Given the description of an element on the screen output the (x, y) to click on. 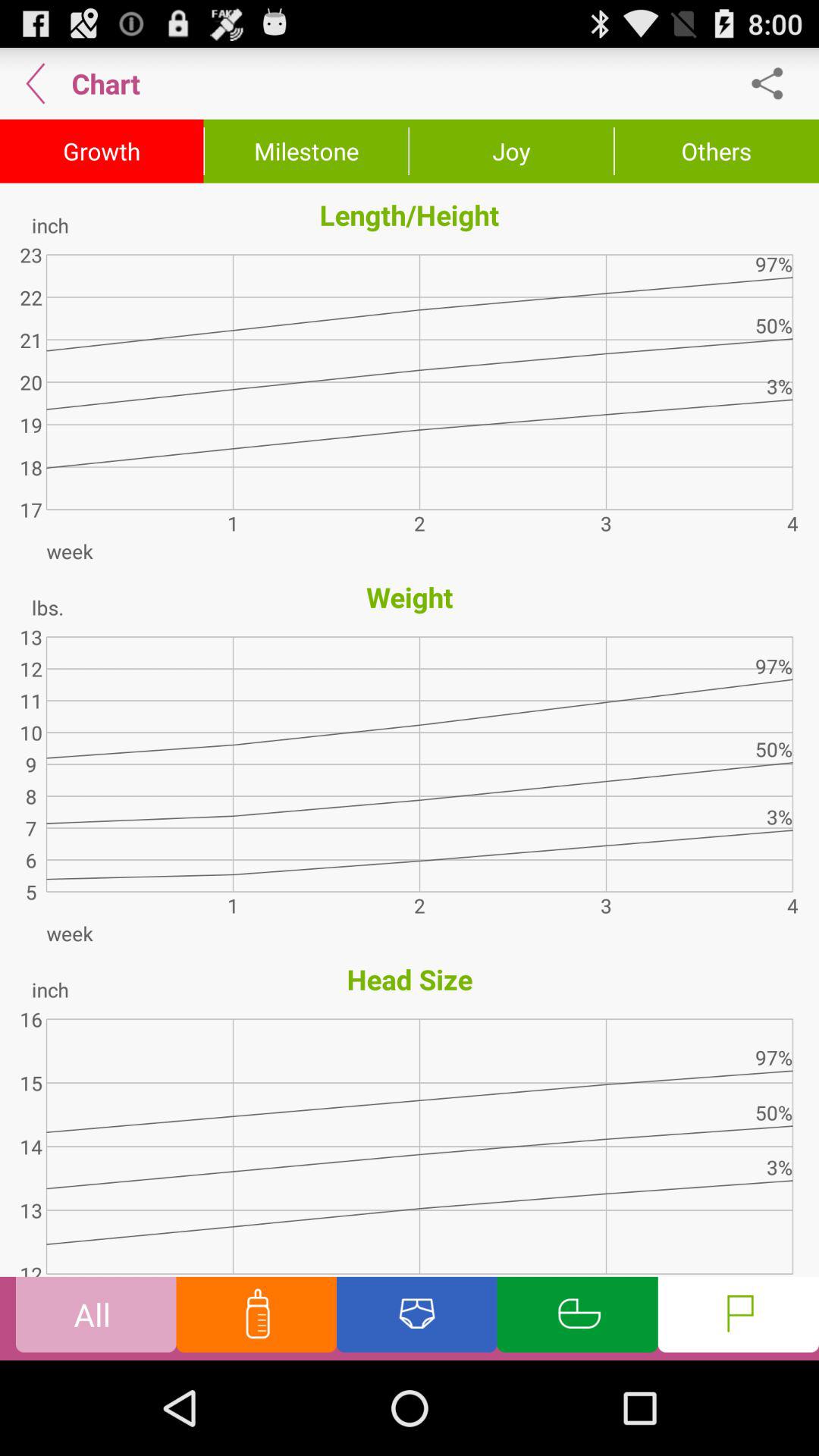
choose icon above the length/height icon (306, 151)
